Given the description of an element on the screen output the (x, y) to click on. 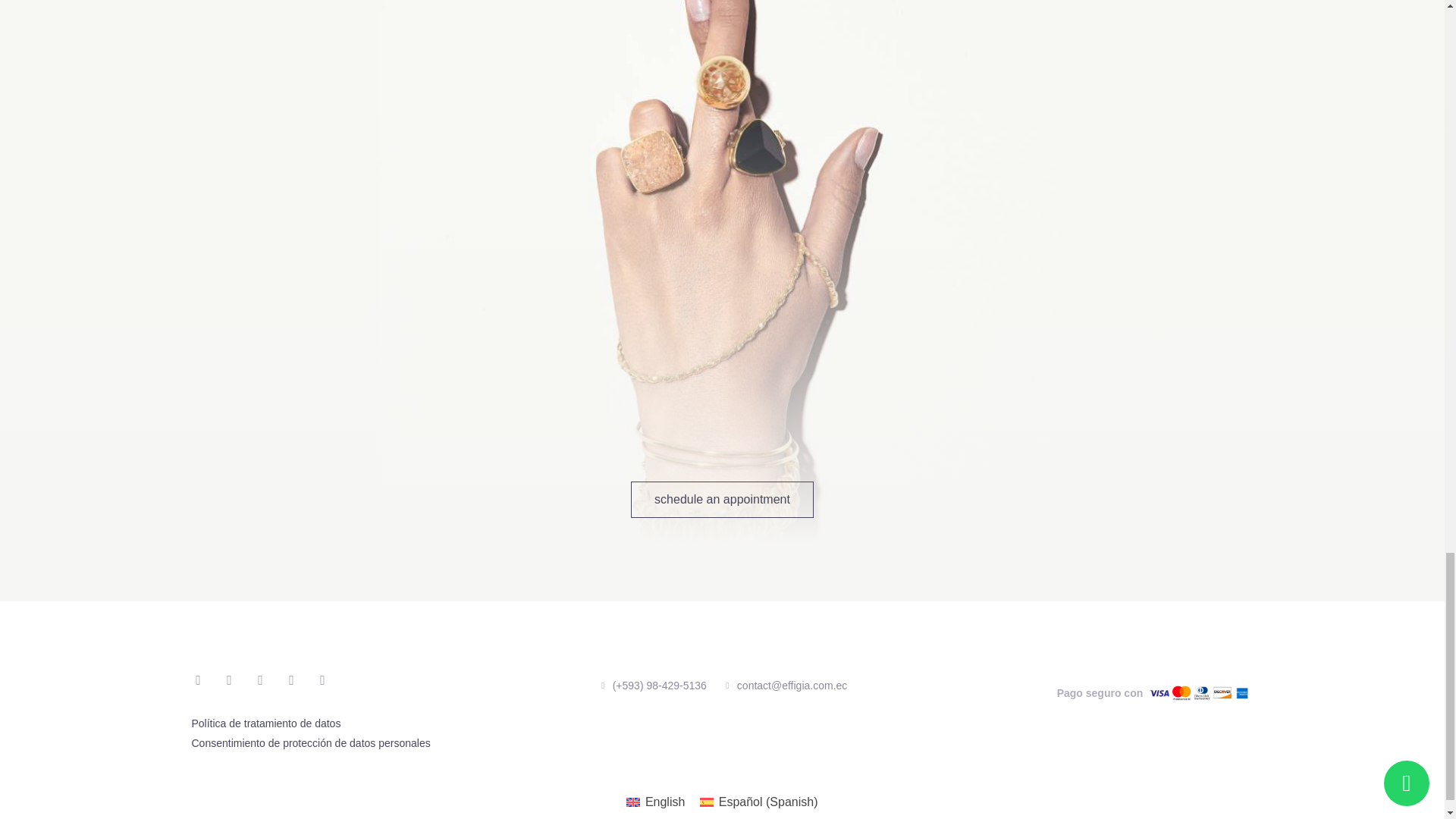
schedule an appointment (721, 499)
